Given the description of an element on the screen output the (x, y) to click on. 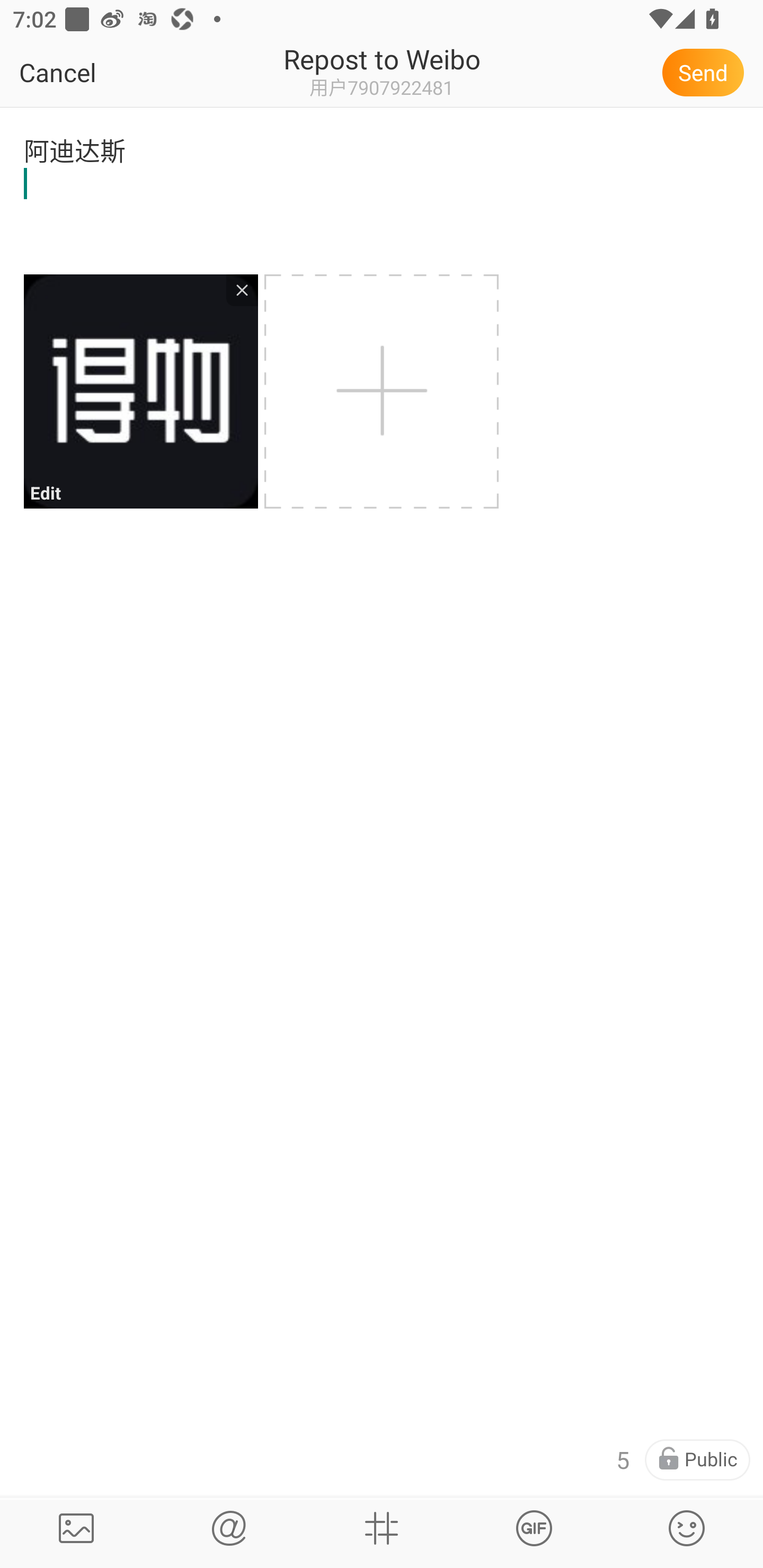
Cancel (99, 71)
Send (706, 71)
阿迪达斯
 (381, 179)
Edit (140, 391)
Meyou Public (697, 1459)
5 Number of words available: (621, 1459)
Pictures Upload (76, 1527)
Search (228, 1527)
Topics, movies, books, songs, places, stocks (381, 1527)
Topics, movies, books, songs, places, stocks (533, 1527)
请插入表情 (686, 1527)
